Given the description of an element on the screen output the (x, y) to click on. 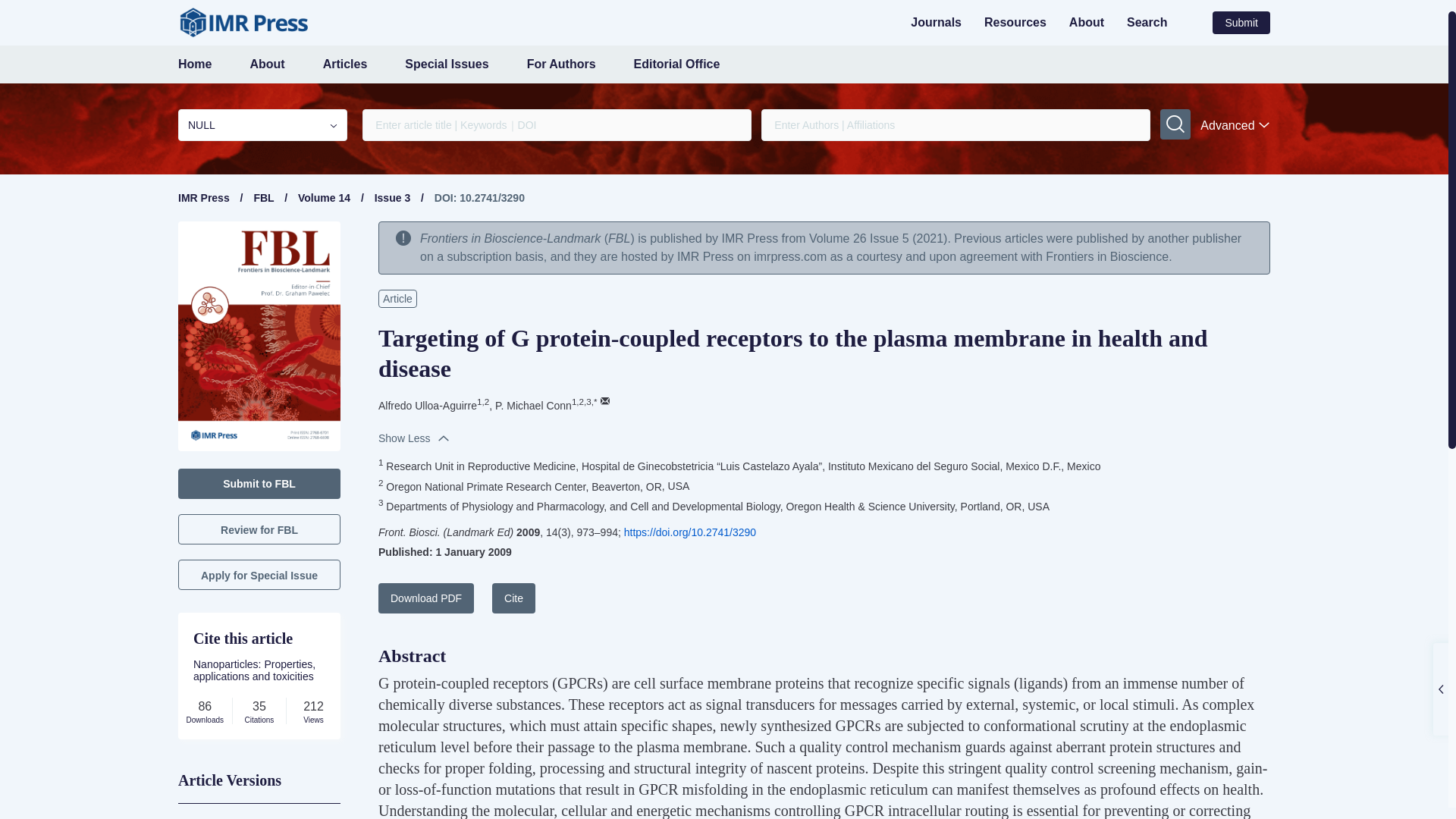
Articles (345, 63)
About (265, 63)
Journals (935, 21)
Search (1146, 21)
Resources (1015, 21)
About (1085, 21)
Home (194, 63)
